Given the description of an element on the screen output the (x, y) to click on. 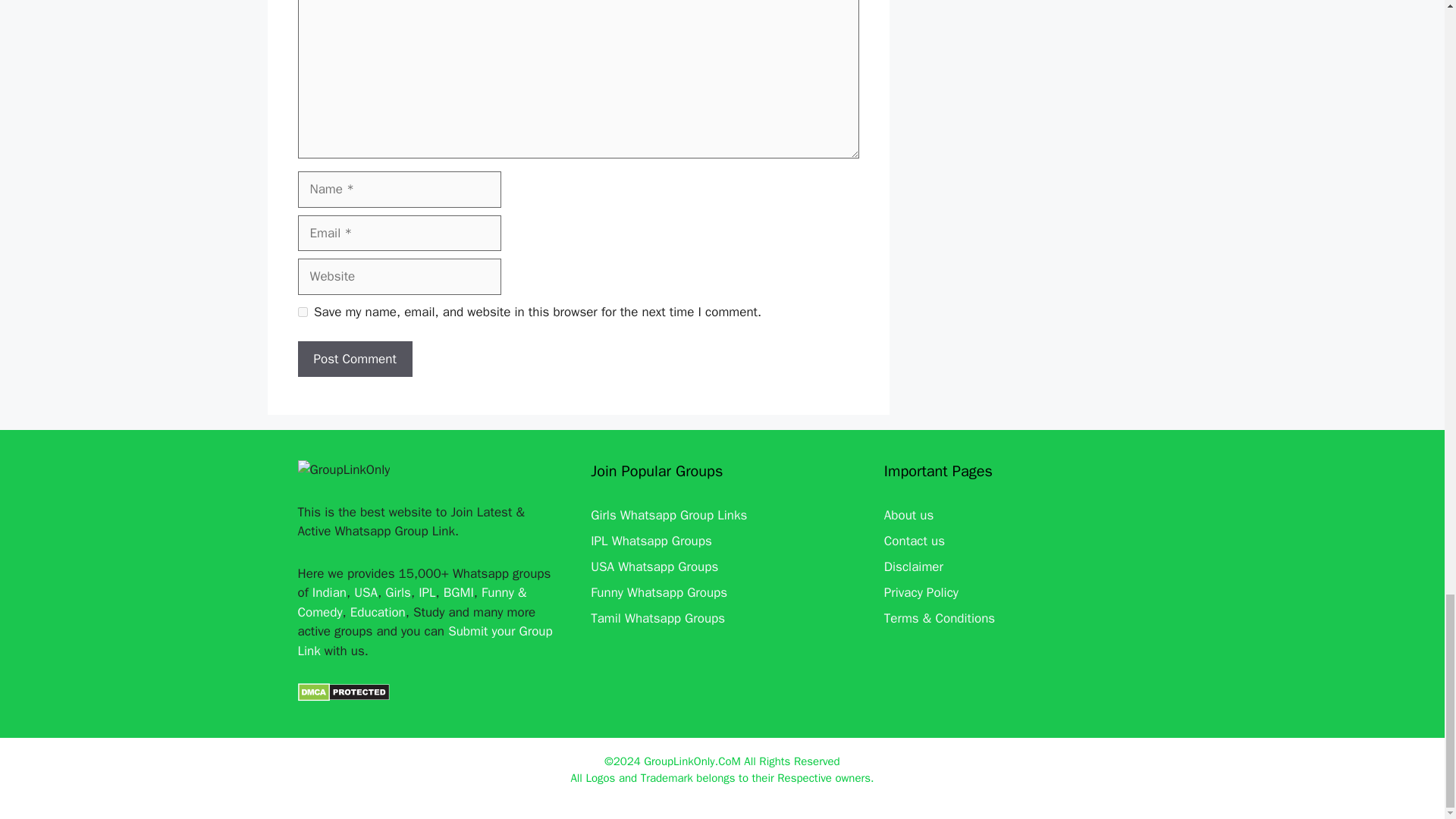
Post Comment (354, 359)
Post Comment (354, 359)
DMCA.com Protection Status (342, 697)
yes (302, 311)
